Given the description of an element on the screen output the (x, y) to click on. 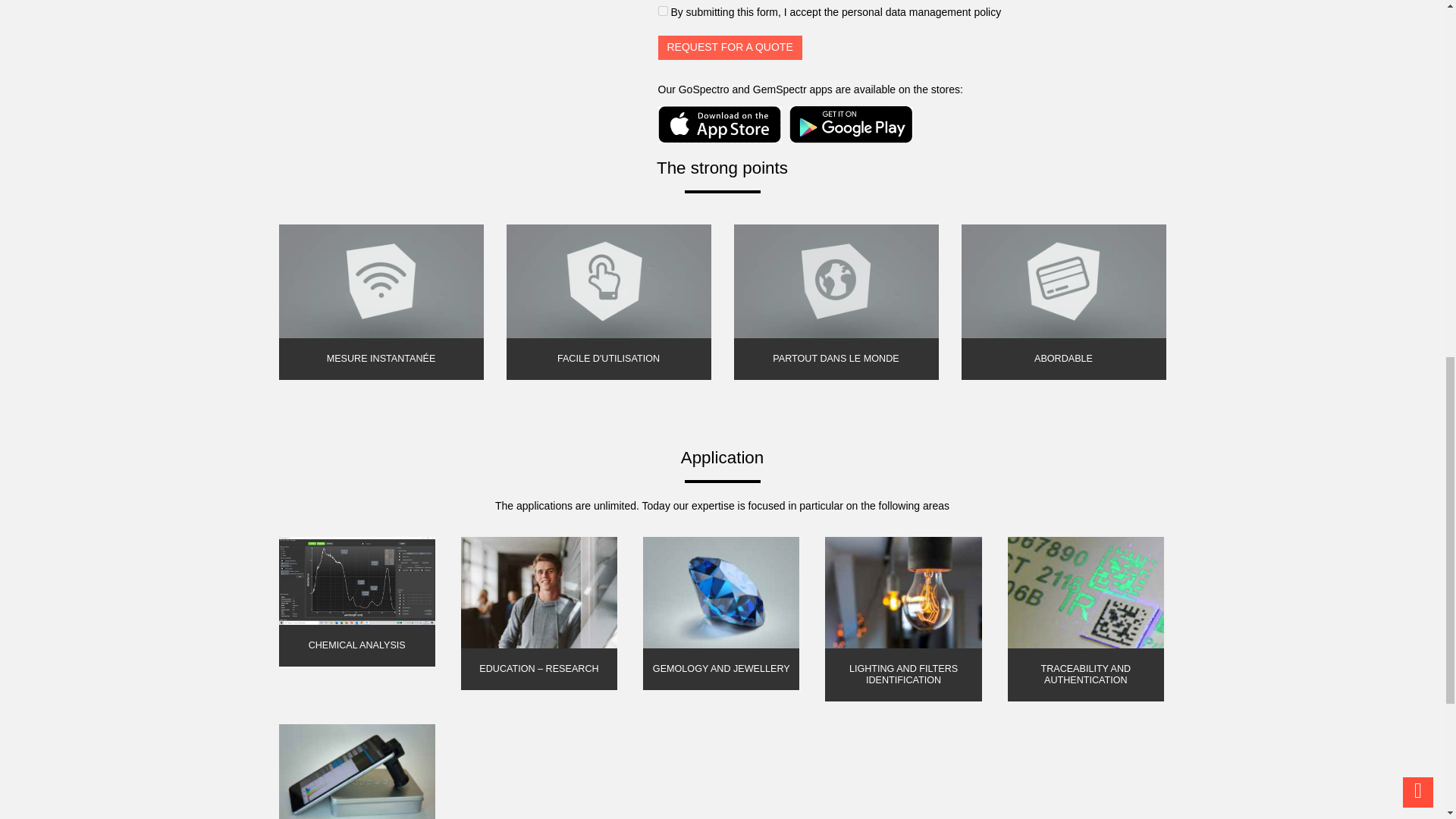
Lighting and filters identification (902, 623)
Traceability and authentication (1084, 623)
Chemical analysis (355, 605)
Request for a quote (730, 47)
Gemology and Jewellery (720, 617)
Others (355, 771)
